Given the description of an element on the screen output the (x, y) to click on. 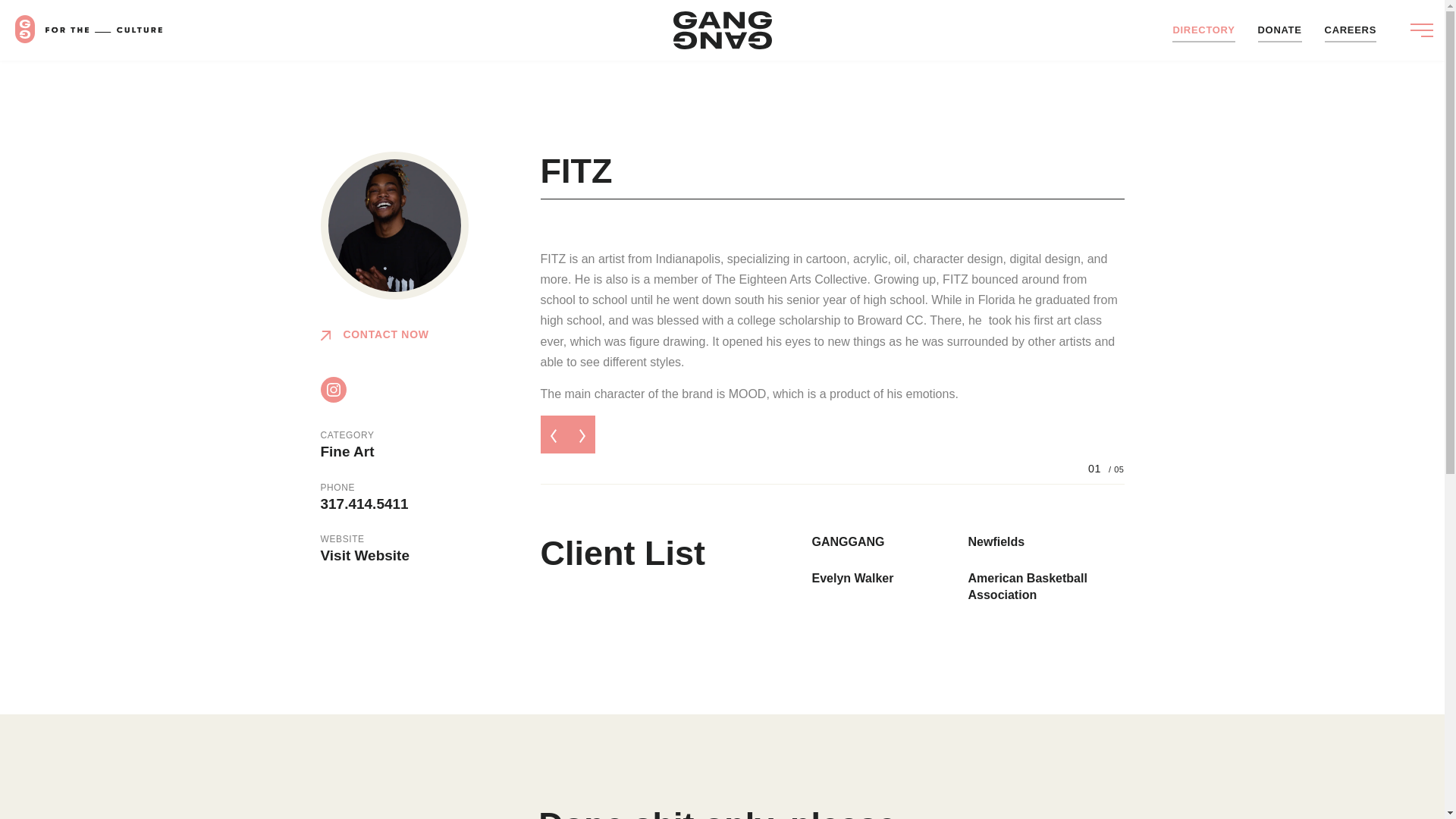
DIRECTORY (1203, 30)
317.414.5411 (363, 503)
Visit Website (364, 555)
CONTACT NOW (374, 334)
Newfields (996, 541)
